Given the description of an element on the screen output the (x, y) to click on. 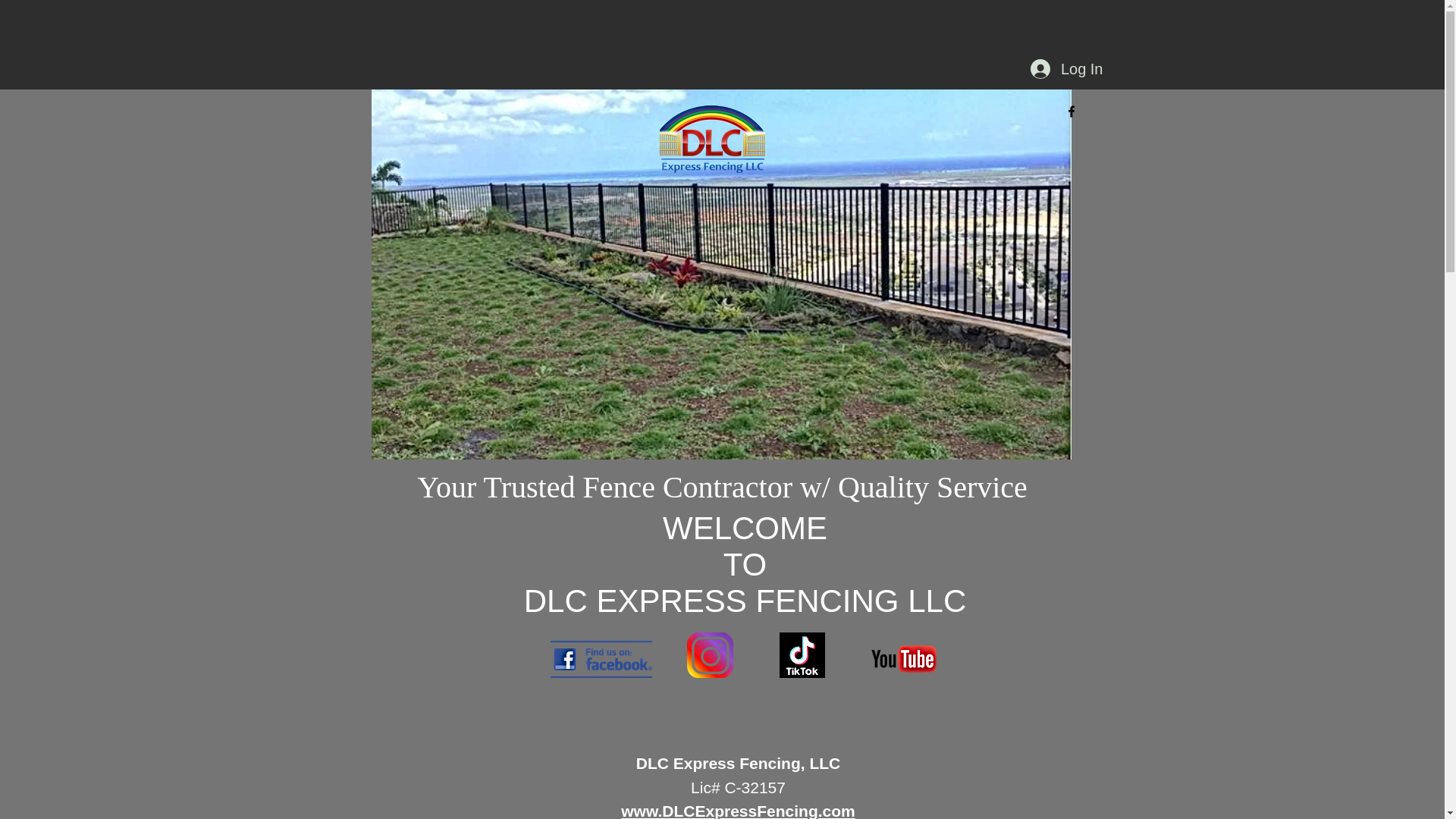
Log In (1066, 69)
www.DLCExpressFencing.com (737, 810)
